Given the description of an element on the screen output the (x, y) to click on. 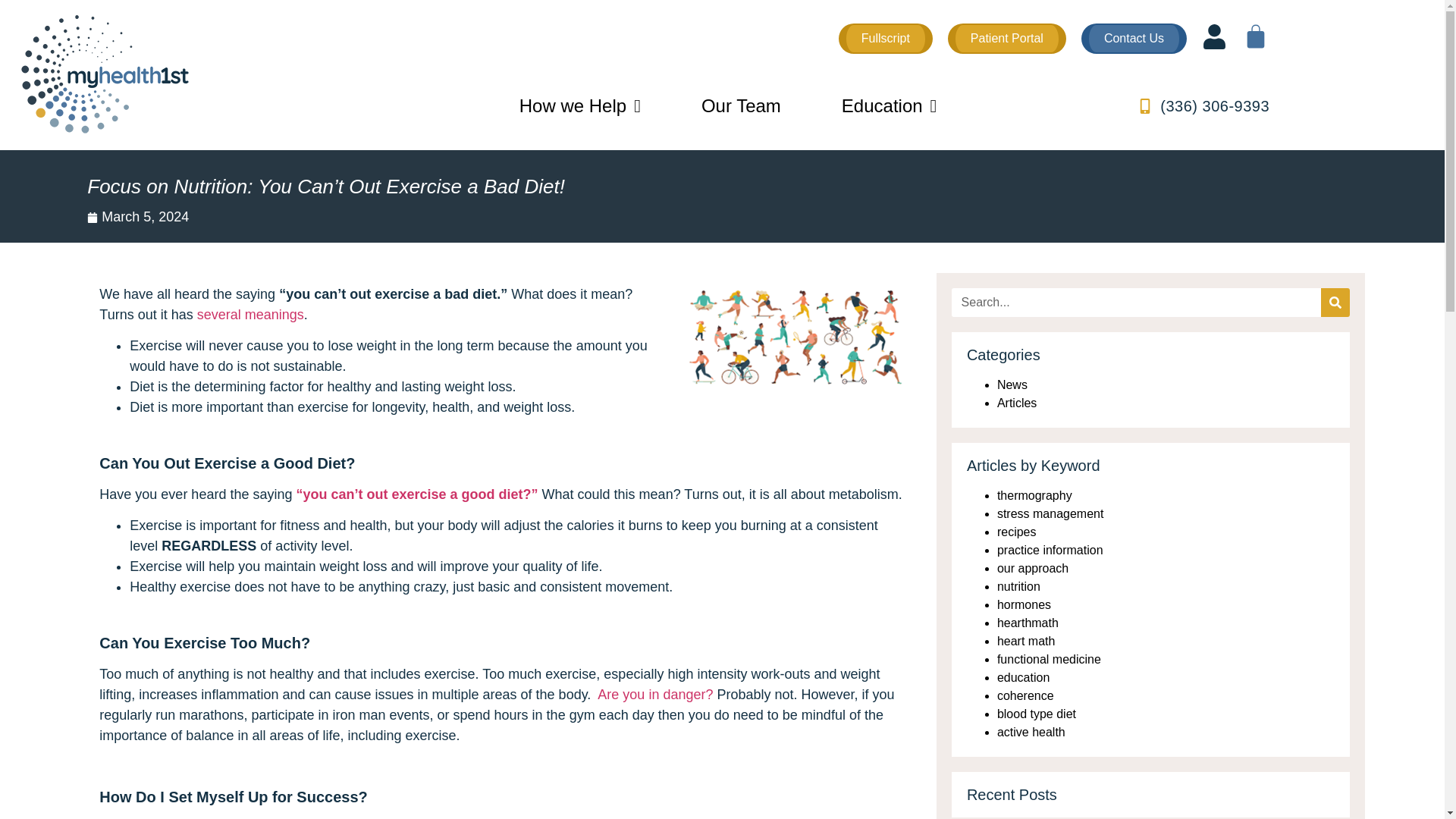
several meanings (250, 314)
How we Help (579, 106)
hormones (1024, 604)
Fullscript (885, 38)
March 5, 2024 (138, 217)
recipes (1016, 531)
News (1012, 384)
our approach (1032, 567)
Contact Us (1133, 38)
stress management (1050, 513)
Are you in danger? (654, 694)
Articles (1016, 402)
Our Team (741, 106)
Patient Portal (1006, 38)
nutrition (1019, 585)
